Given the description of an element on the screen output the (x, y) to click on. 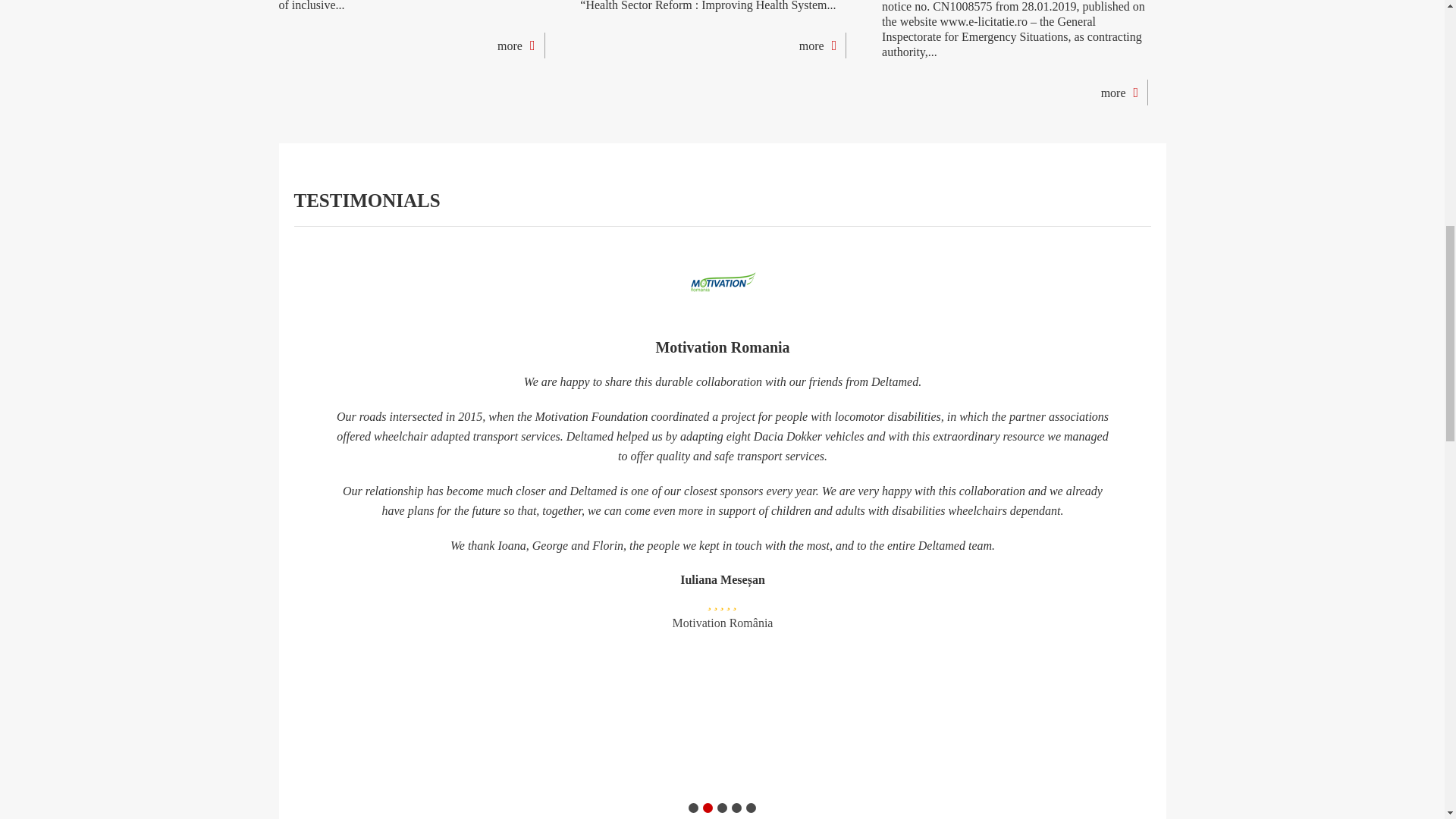
More (515, 45)
More (817, 45)
